Given the description of an element on the screen output the (x, y) to click on. 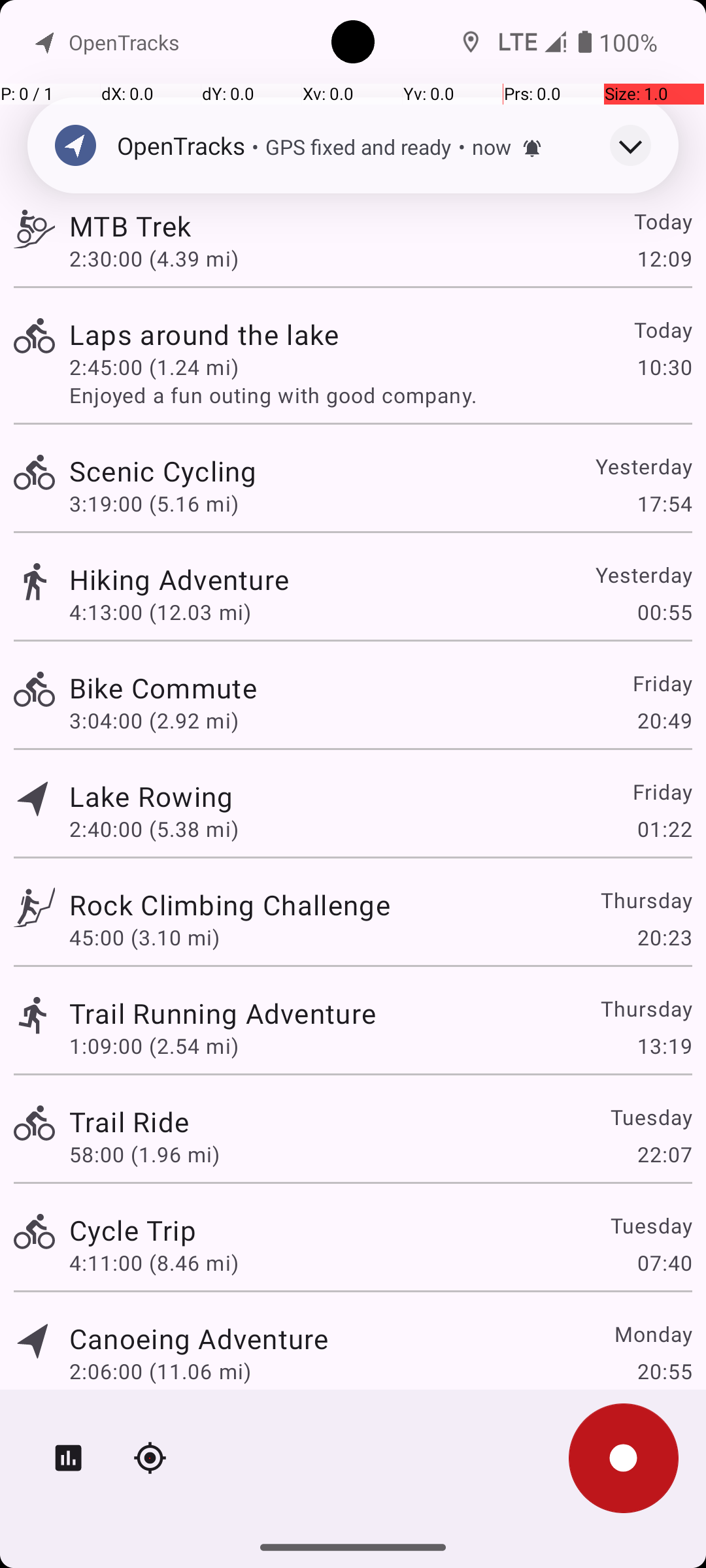
MTB Trek Element type: android.widget.TextView (129, 225)
2:30:00 (4.39 mi) Element type: android.widget.TextView (153, 258)
12:09 Element type: android.widget.TextView (664, 258)
Laps around the lake Element type: android.widget.TextView (203, 333)
2:45:00 (1.24 mi) Element type: android.widget.TextView (153, 366)
10:30 Element type: android.widget.TextView (664, 366)
Enjoyed a fun outing with good company. Element type: android.widget.TextView (380, 394)
Scenic Cycling Element type: android.widget.TextView (162, 470)
3:19:00 (5.16 mi) Element type: android.widget.TextView (153, 503)
17:54 Element type: android.widget.TextView (664, 503)
Hiking Adventure Element type: android.widget.TextView (178, 578)
4:13:00 (12.03 mi) Element type: android.widget.TextView (159, 611)
00:55 Element type: android.widget.TextView (664, 611)
Bike Commute Element type: android.widget.TextView (162, 687)
3:04:00 (2.92 mi) Element type: android.widget.TextView (153, 720)
20:49 Element type: android.widget.TextView (664, 720)
Lake Rowing Element type: android.widget.TextView (151, 795)
2:40:00 (5.38 mi) Element type: android.widget.TextView (153, 828)
01:22 Element type: android.widget.TextView (664, 828)
Rock Climbing Challenge Element type: android.widget.TextView (229, 904)
45:00 (3.10 mi) Element type: android.widget.TextView (144, 937)
20:23 Element type: android.widget.TextView (664, 937)
Trail Running Adventure Element type: android.widget.TextView (222, 1012)
1:09:00 (2.54 mi) Element type: android.widget.TextView (153, 1045)
13:19 Element type: android.widget.TextView (664, 1045)
Trail Ride Element type: android.widget.TextView (128, 1121)
58:00 (1.96 mi) Element type: android.widget.TextView (144, 1154)
22:07 Element type: android.widget.TextView (664, 1154)
Cycle Trip Element type: android.widget.TextView (132, 1229)
4:11:00 (8.46 mi) Element type: android.widget.TextView (153, 1262)
07:40 Element type: android.widget.TextView (664, 1262)
Canoeing Adventure Element type: android.widget.TextView (198, 1337)
2:06:00 (11.06 mi) Element type: android.widget.TextView (159, 1370)
20:55 Element type: android.widget.TextView (664, 1370)
GPS fixed and ready Element type: android.widget.TextView (358, 146)
